Given the description of an element on the screen output the (x, y) to click on. 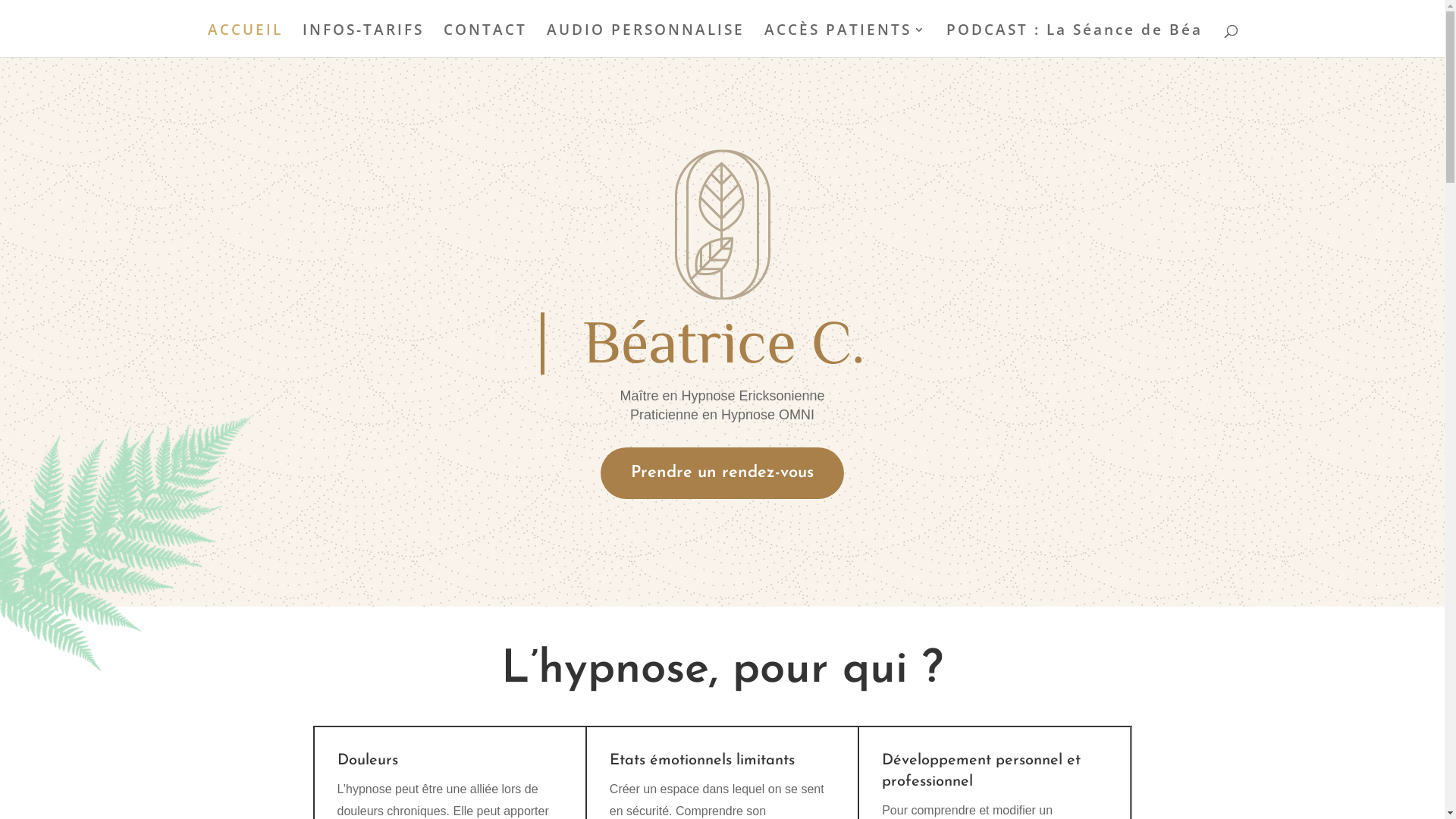
AUDIO PERSONNALISE Element type: text (644, 40)
ACCUEIL Element type: text (244, 40)
INFOS-TARIFS Element type: text (362, 40)
Prendre un rendez-vous Element type: text (722, 472)
holistic-healer-46 Element type: hover (722, 224)
CONTACT Element type: text (484, 40)
